Given the description of an element on the screen output the (x, y) to click on. 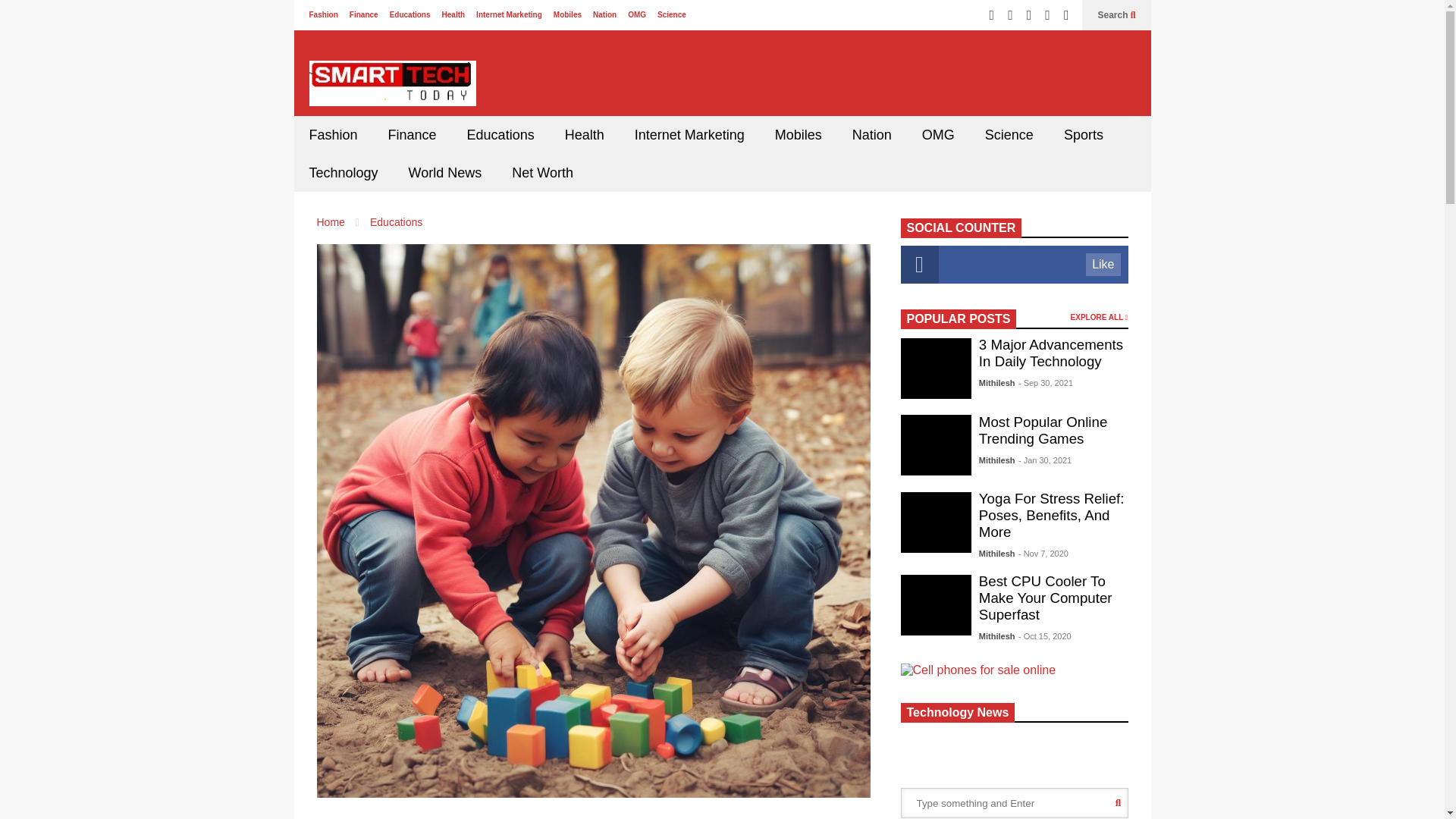
OMG (636, 14)
Technology (343, 172)
Internet Marketing (508, 14)
Educations (395, 222)
Educations (500, 134)
OMG (938, 134)
Health (585, 134)
Home (331, 222)
Fashion (333, 134)
Sports (1083, 134)
